Given the description of an element on the screen output the (x, y) to click on. 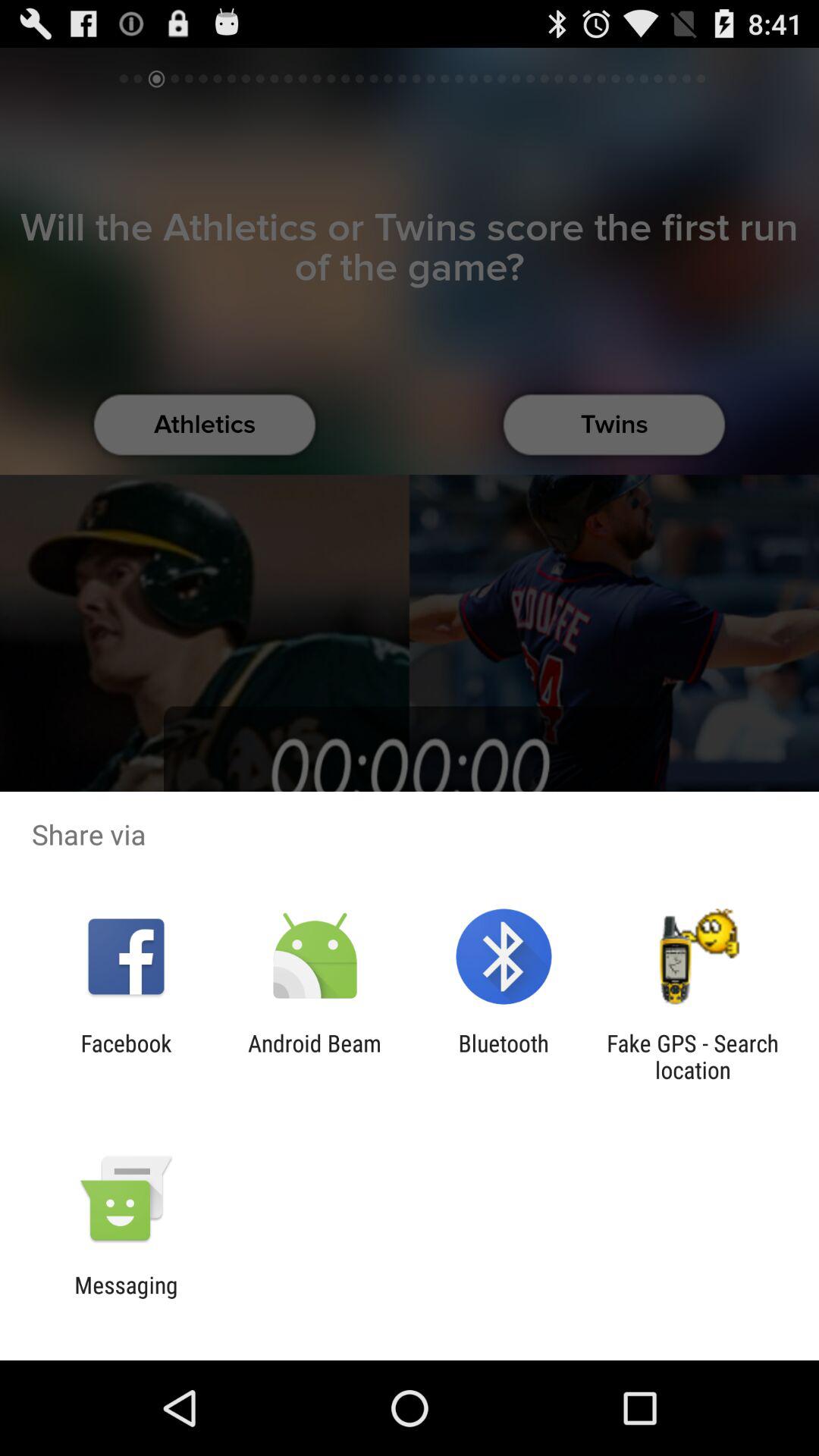
click the app to the left of the android beam app (125, 1056)
